Given the description of an element on the screen output the (x, y) to click on. 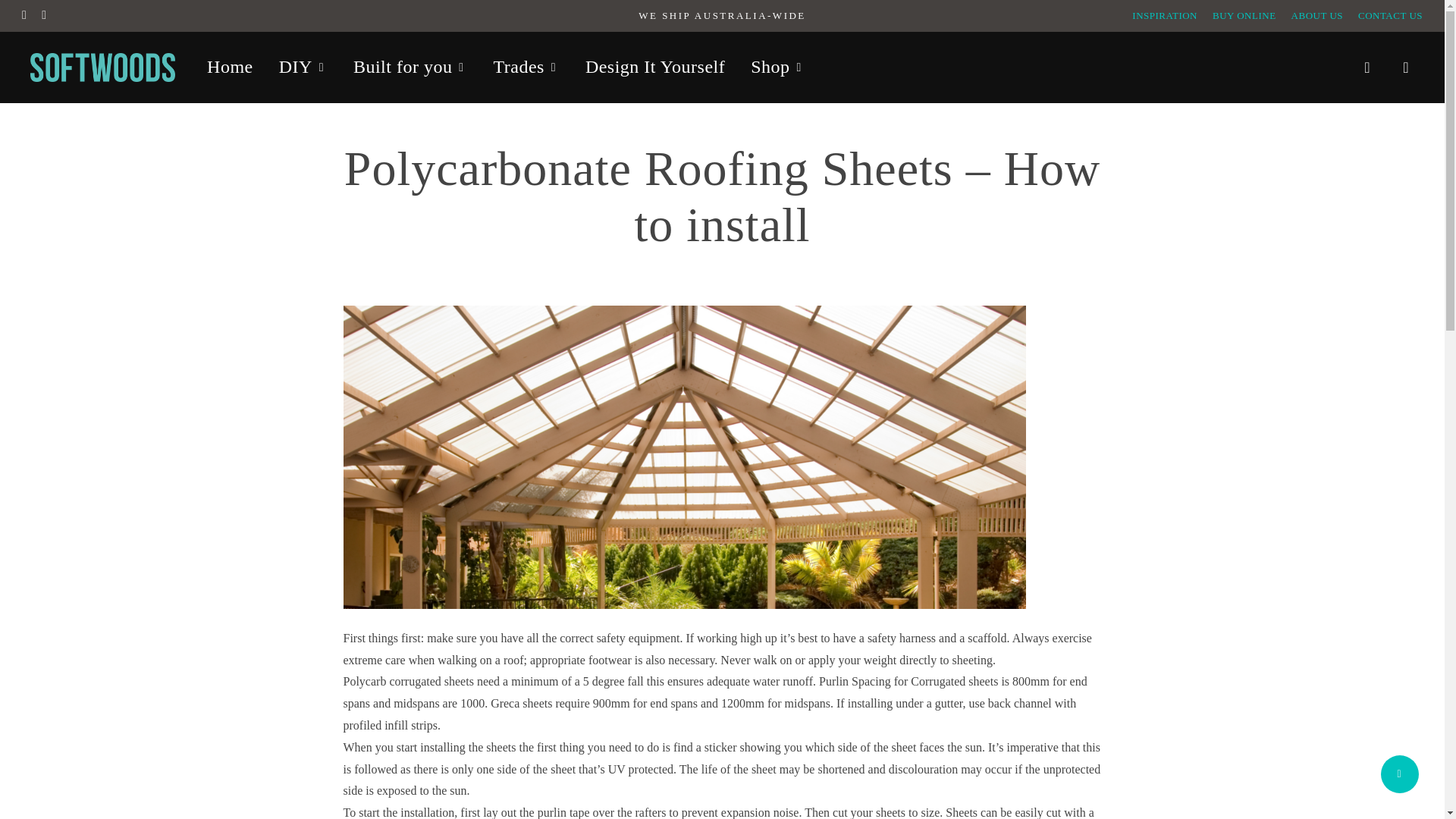
BUY ONLINE (1244, 15)
DIY (303, 67)
ABOUT US (1316, 15)
Built for you (410, 67)
INSPIRATION (1164, 15)
Home (229, 67)
CONTACT US (1390, 15)
